Given the description of an element on the screen output the (x, y) to click on. 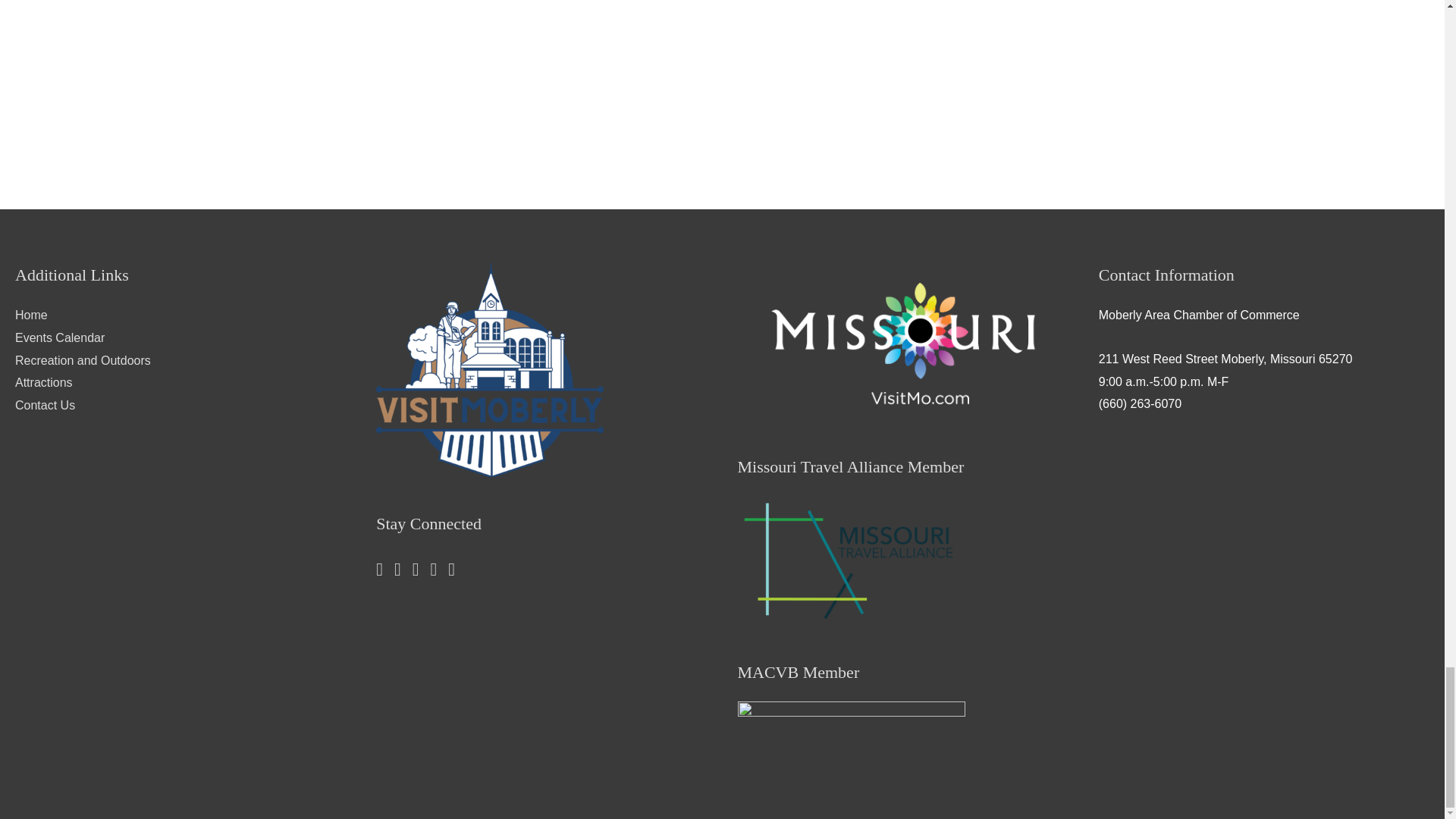
pinterest-p (421, 571)
instagram (439, 571)
twitter (384, 571)
facebook (403, 571)
